Given the description of an element on the screen output the (x, y) to click on. 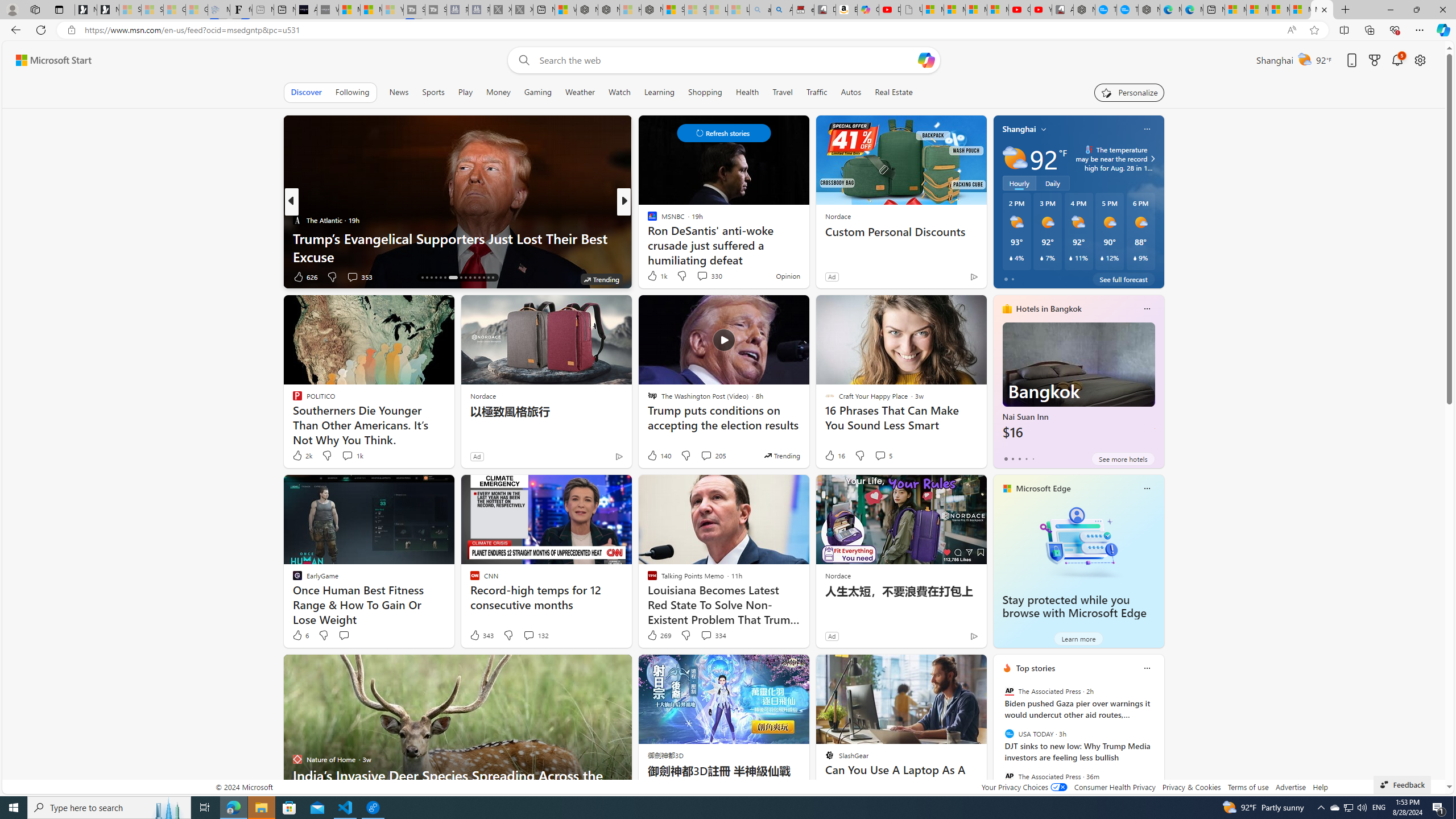
View comments 330 Comment (701, 275)
Microsoft account | Microsoft Account Privacy Settings (1256, 9)
AutomationID: tab-17 (426, 277)
Microsoft Start Sports (349, 9)
View comments 2 Comment (698, 276)
View comments 33 Comment (698, 276)
Ad Choice (972, 635)
Gaming (537, 92)
What's the best AI voice generator? - voice.ai - Sleeping (327, 9)
Comments turned off for this story (695, 276)
TAG24 NEWS (647, 219)
